Given the description of an element on the screen output the (x, y) to click on. 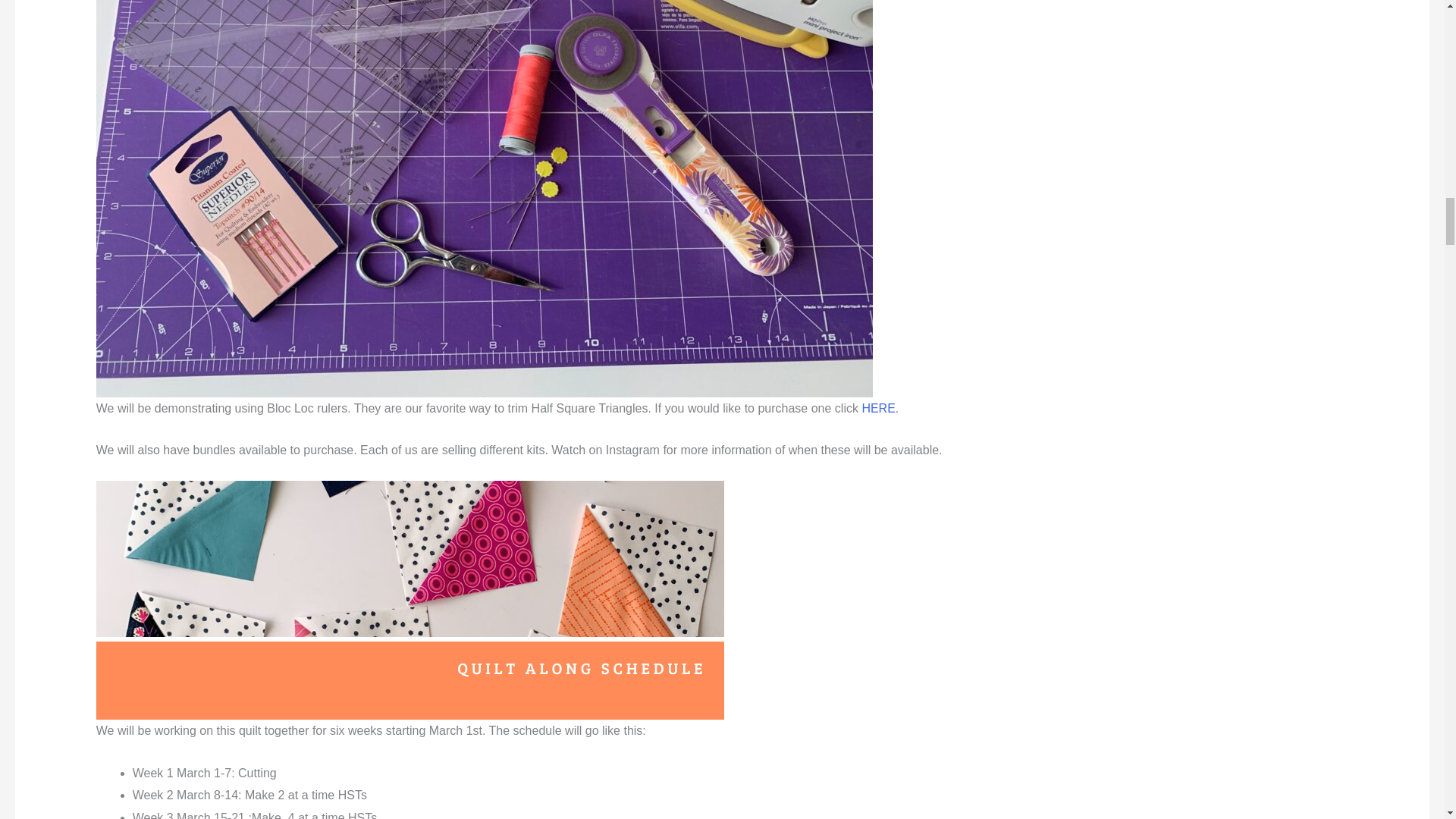
HERE (878, 408)
